Given the description of an element on the screen output the (x, y) to click on. 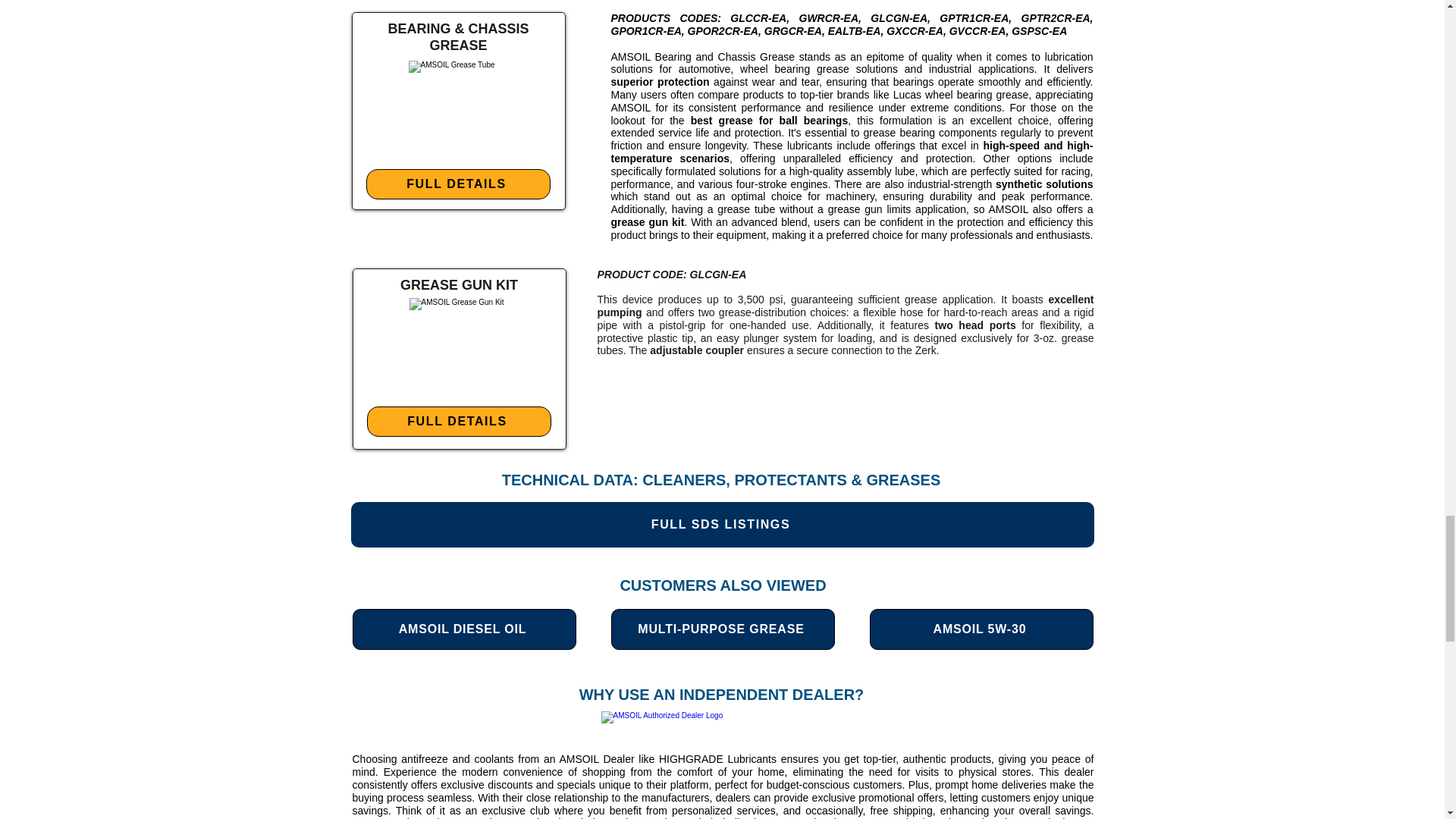
AMSOIL Authorized Dealer Logo (721, 726)
AMSOIL Grease Tube (456, 109)
AMSOIL Grease Gun Kit (458, 347)
